Given the description of an element on the screen output the (x, y) to click on. 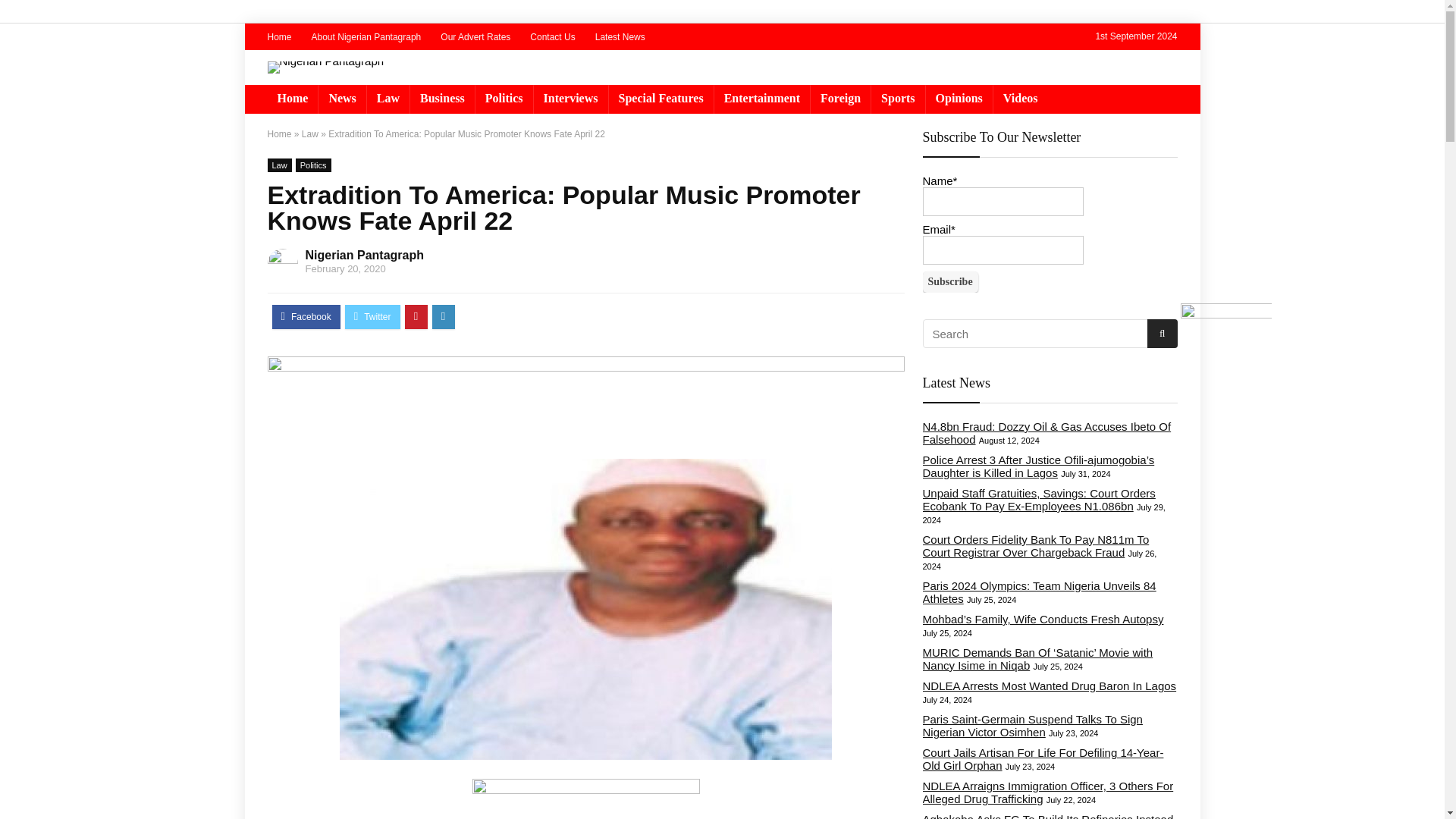
Law (278, 164)
Law (387, 99)
About Nigerian Pantagraph (366, 36)
Politics (313, 164)
Latest News (620, 36)
Politics (504, 99)
Business (442, 99)
Nigerian Pantagraph (363, 254)
Home (291, 99)
Opinions (959, 99)
